Given the description of an element on the screen output the (x, y) to click on. 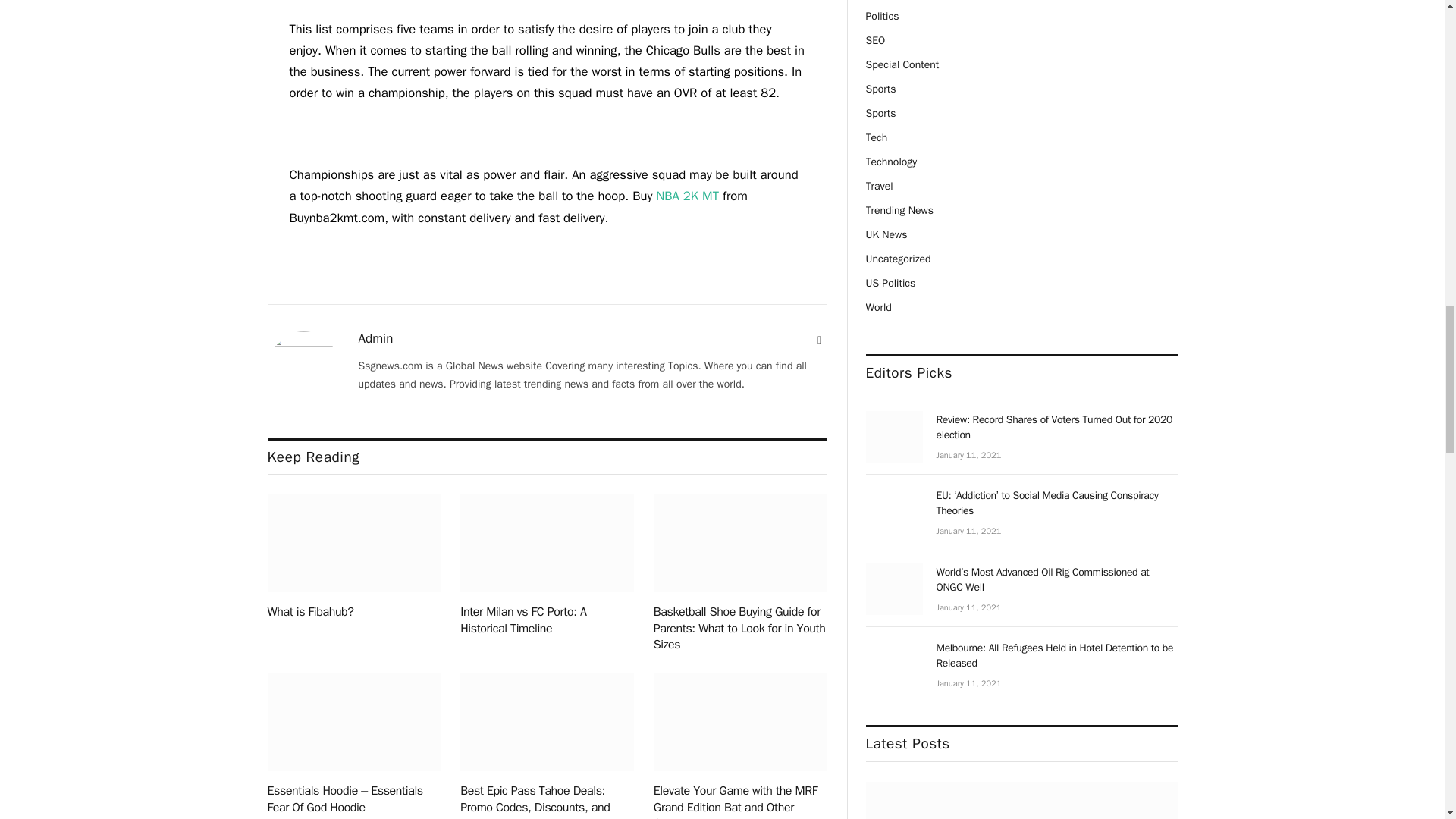
Posts by Admin (375, 338)
Inter Milan vs FC Porto: A Historical Timeline (546, 543)
What is Fibahub? (353, 543)
Website (818, 340)
